Given the description of an element on the screen output the (x, y) to click on. 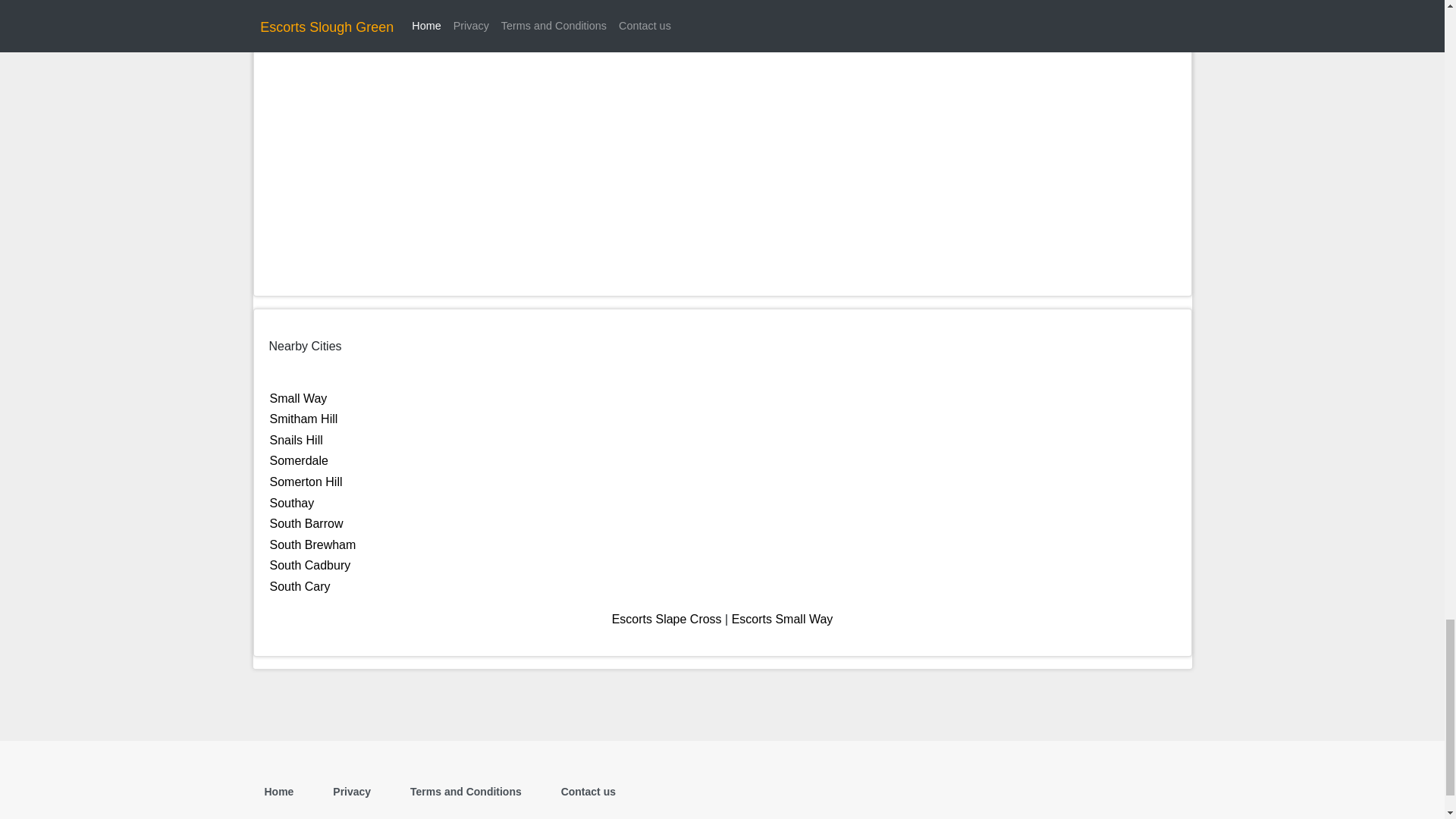
Escorts Slape Cross (666, 618)
Small Way (298, 398)
South Cadbury (309, 564)
Snails Hill (296, 440)
South Brewham (312, 544)
South Cary (299, 585)
Somerdale (299, 460)
South Barrow (306, 522)
Escorts Small Way (782, 618)
Southay (291, 502)
